Given the description of an element on the screen output the (x, y) to click on. 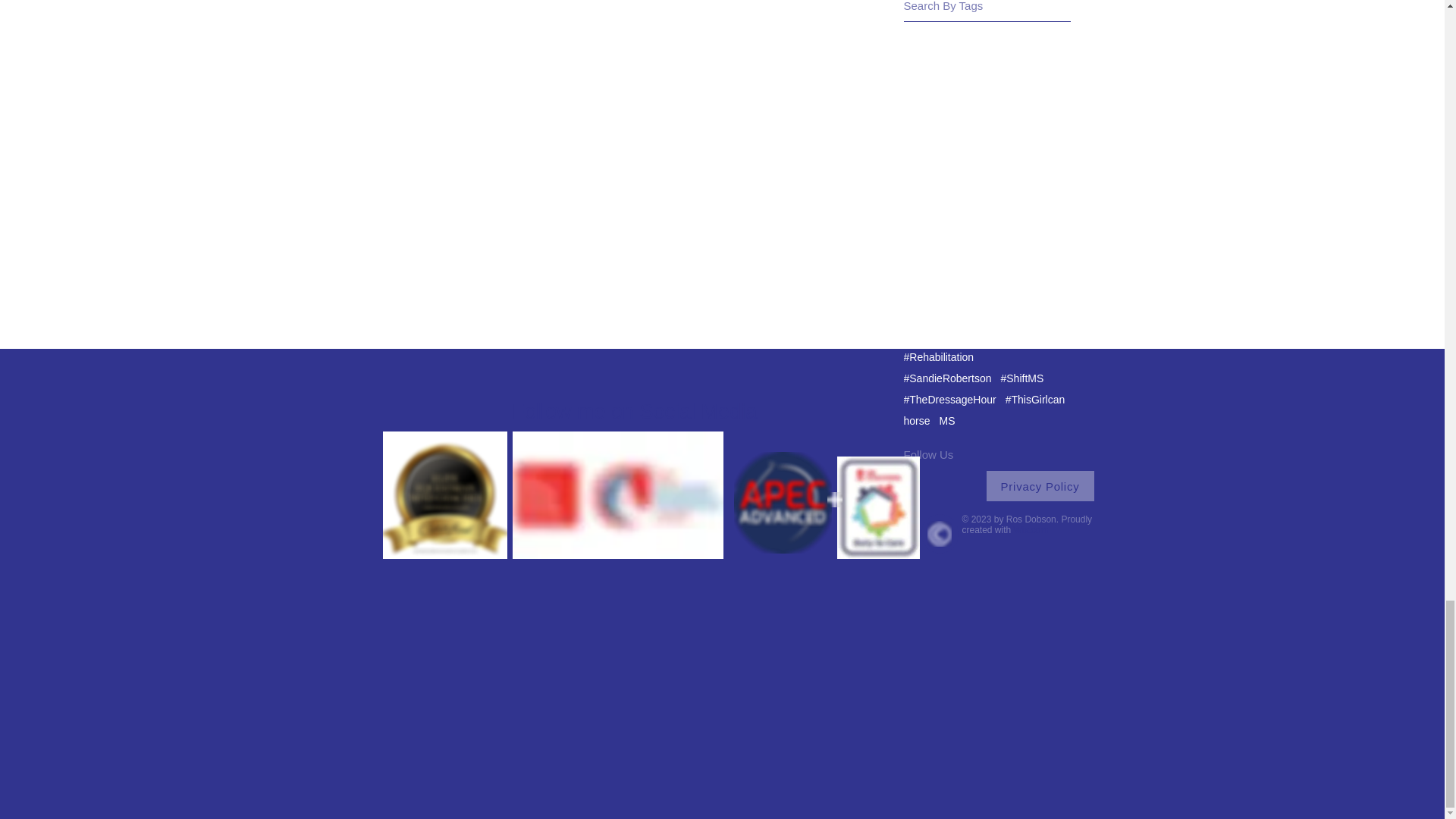
Accredited Professional Coach with the British Horse Society (617, 494)
Copy of EEC Badge Gold.png (443, 494)
Proud to be a Centre 10 Advanced Coach (782, 502)
